Given the description of an element on the screen output the (x, y) to click on. 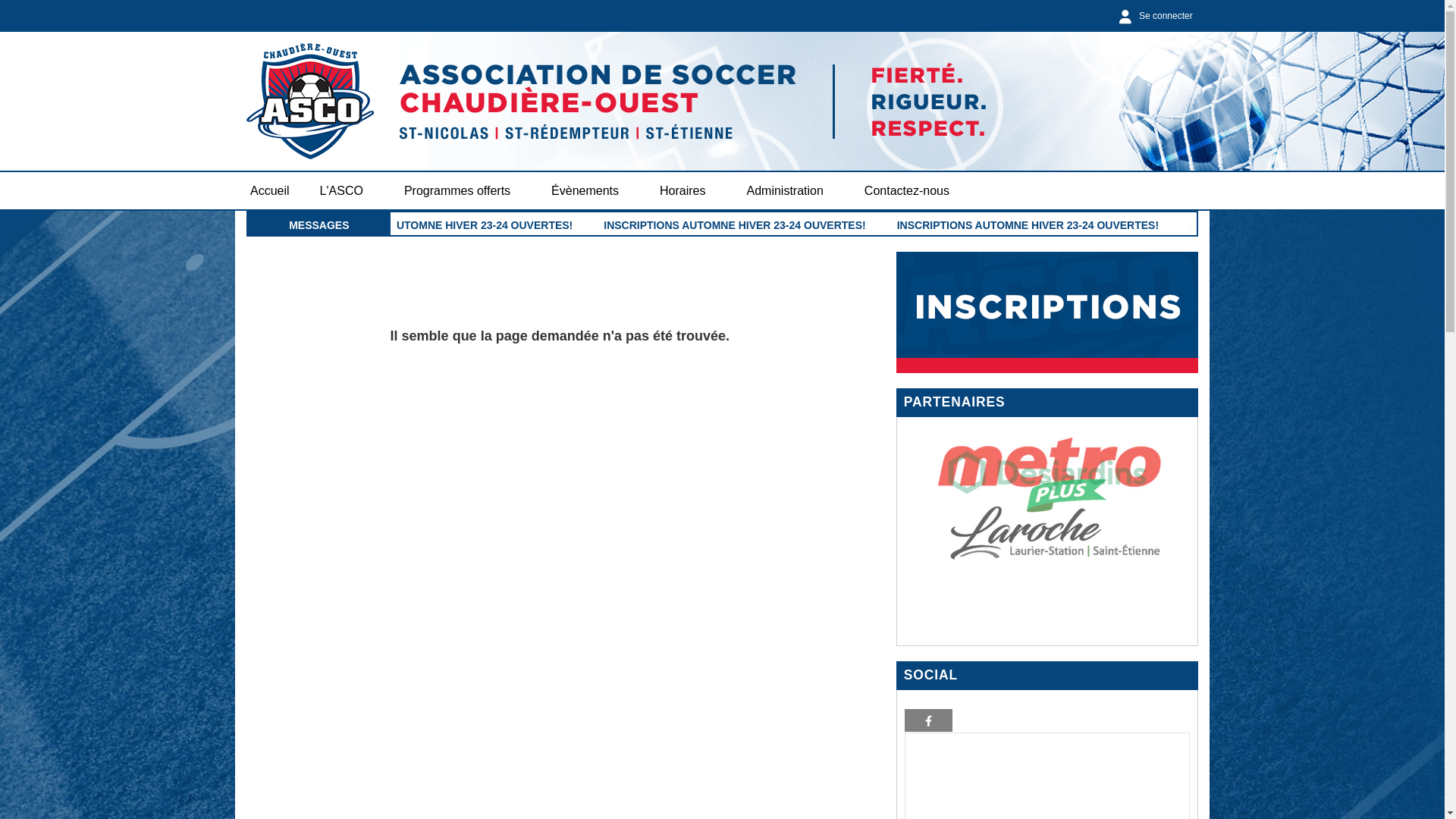
INSCRIPTIONS AUTOMNE HIVER 23-24 OUVERTES! Element type: text (735, 225)
Contactez-nous Element type: text (906, 190)
Programmes offerts Element type: text (462, 190)
INSCRIPTIONS AUTOMNE HIVER 23-24 OUVERTES! Element type: text (443, 225)
Administration Element type: text (789, 190)
L'ASCO Element type: text (346, 190)
INSCRIPTIONS AUTOMNE HIVER 23-24 OUVERTES! Element type: text (1026, 225)
Se connecter Element type: text (1152, 15)
Horaires Element type: text (687, 190)
Accueil Element type: text (269, 190)
INSCRIPTIONS AUTOMNE HIVER 23-24 OUVERTES! Element type: text (1317, 225)
